Given the description of an element on the screen output the (x, y) to click on. 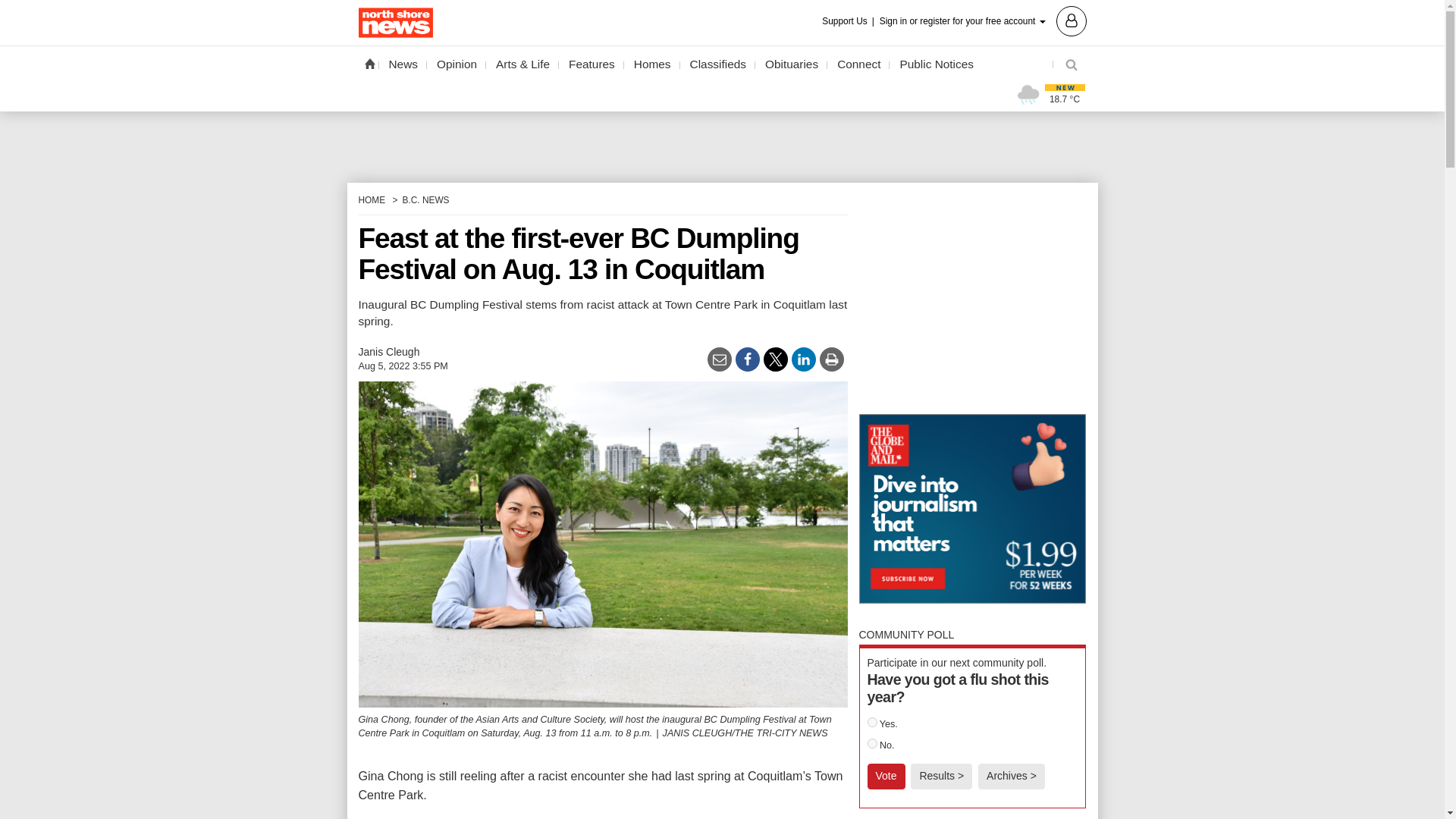
106202 (872, 743)
Sign in or register for your free account (982, 20)
Opinion (456, 64)
Support Us (849, 21)
Home (368, 63)
106201 (872, 722)
News (403, 64)
